Given the description of an element on the screen output the (x, y) to click on. 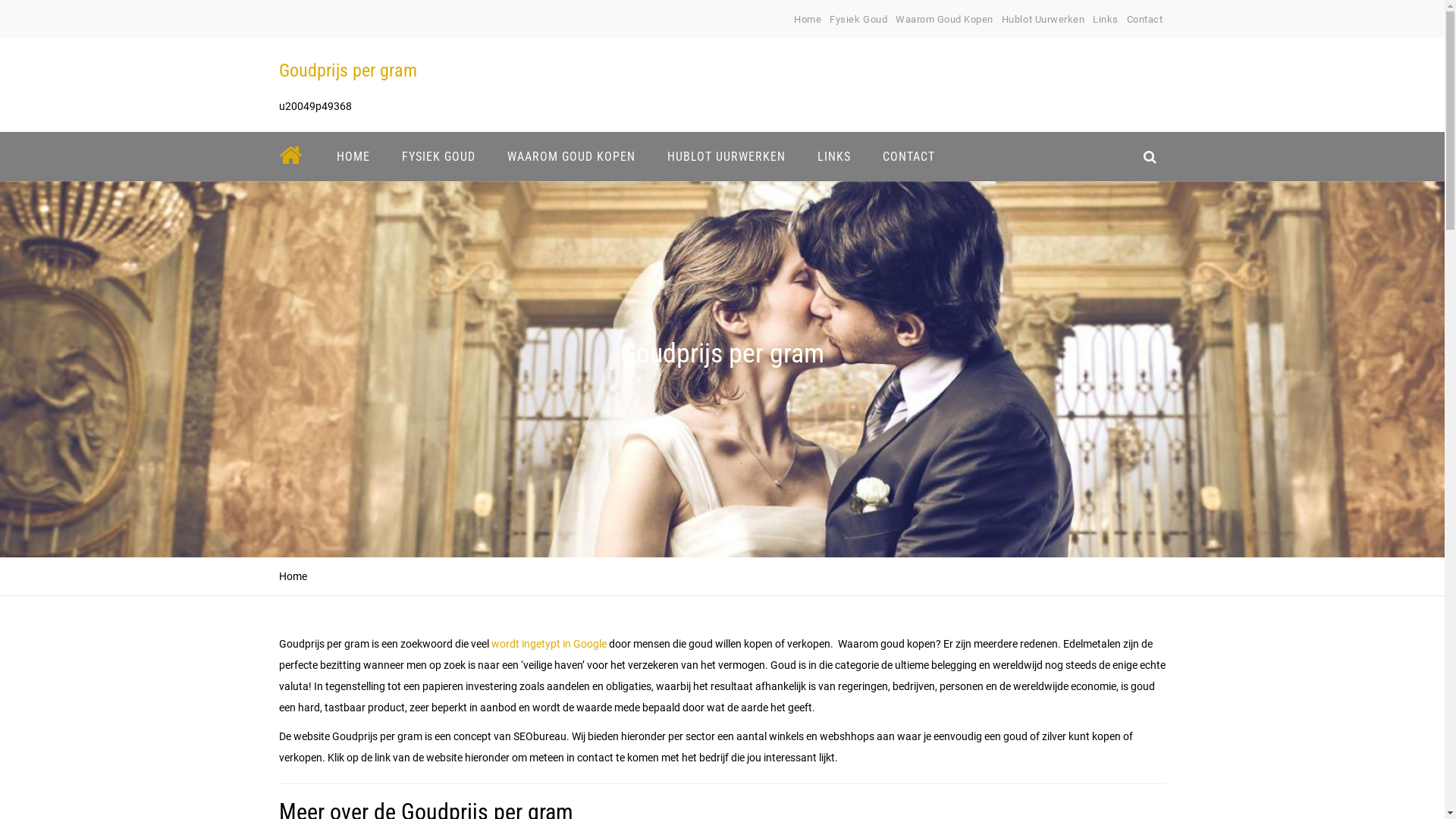
Home Element type: text (807, 19)
Waarom Goud Kopen Element type: text (944, 19)
Fysiek Goud Element type: text (858, 19)
FYSIEK GOUD Element type: text (437, 156)
HOME Element type: text (352, 156)
HUBLOT UURWERKEN Element type: text (725, 156)
Links Element type: text (1105, 19)
Hublot Uurwerken Element type: text (1042, 19)
WAAROM GOUD KOPEN Element type: text (571, 156)
CONTACT Element type: text (908, 156)
LINKS Element type: text (832, 156)
Goudprijs per gram Element type: text (348, 70)
Contact Element type: text (1144, 19)
wordt ingetypt in Google Element type: text (548, 643)
search_icon Element type: hover (1148, 156)
